Given the description of an element on the screen output the (x, y) to click on. 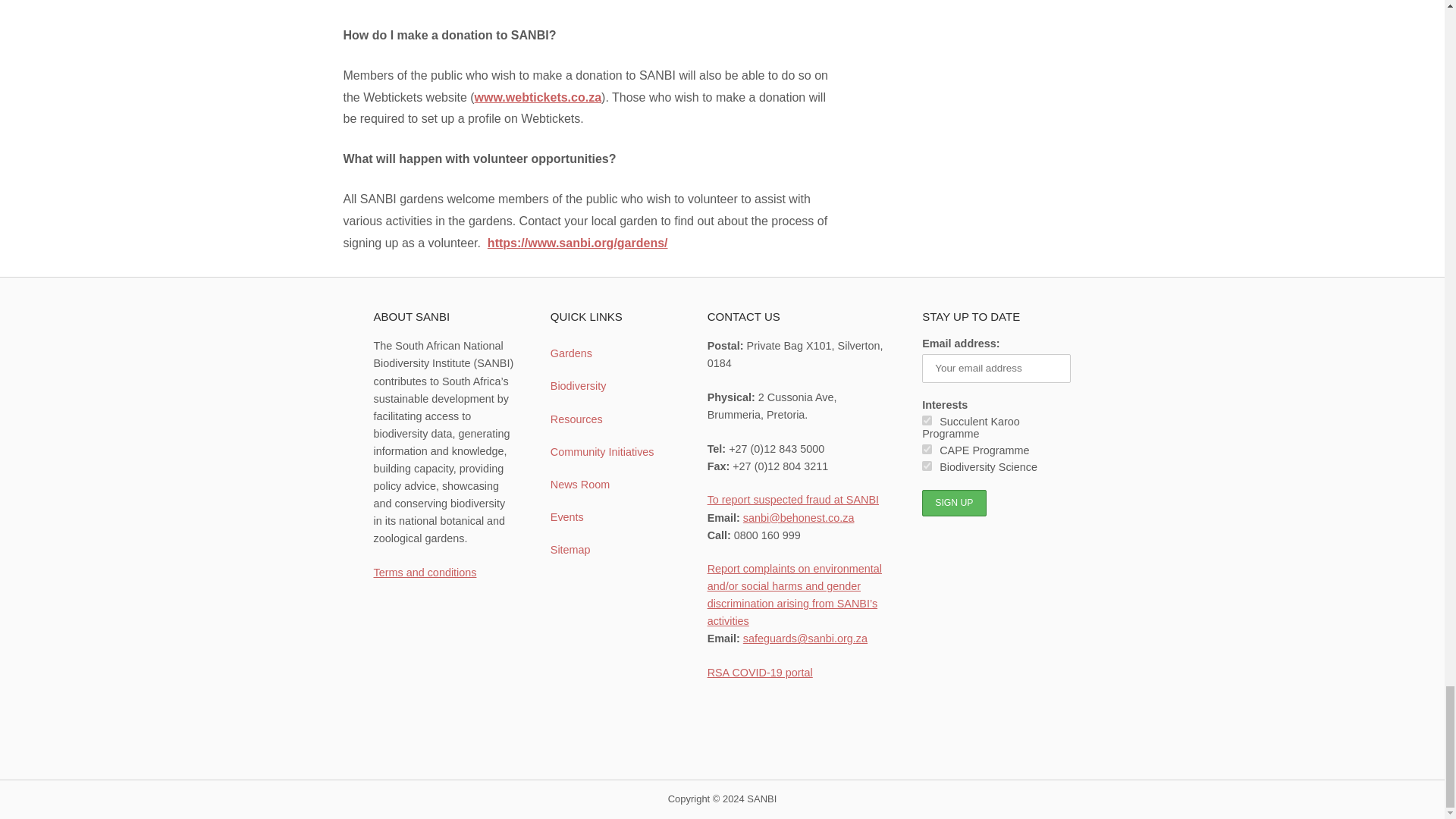
www.webtickets.co.za (537, 97)
9f81b9361e (926, 465)
6eeeb469e4 (926, 449)
Sign up (953, 502)
5ba7e66dab (926, 420)
